Given the description of an element on the screen output the (x, y) to click on. 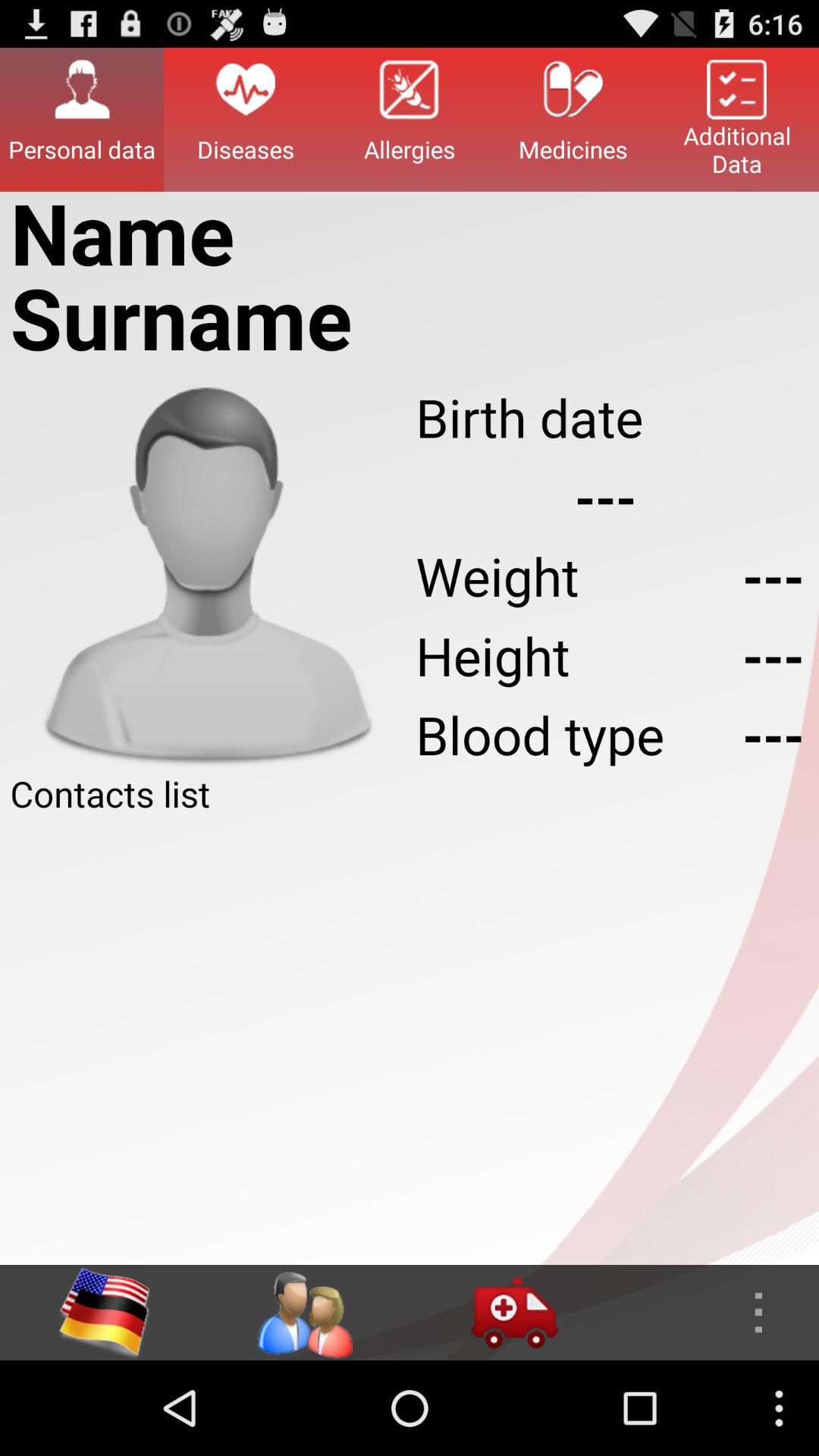
flip until additional data item (737, 119)
